Given the description of an element on the screen output the (x, y) to click on. 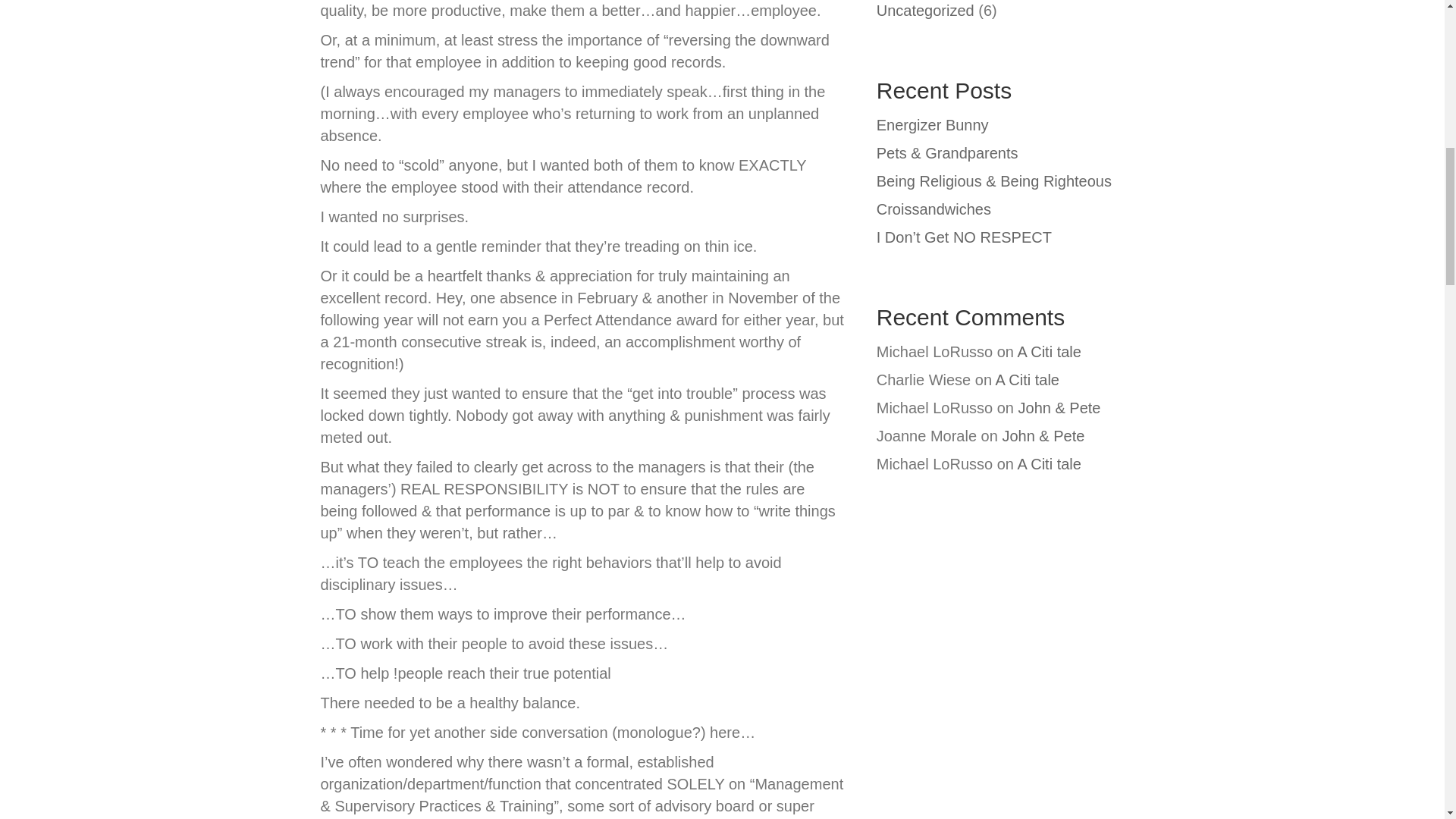
Energizer Bunny (932, 125)
Uncategorized (925, 10)
A Citi tale (1026, 379)
Croissandwiches (933, 208)
A Citi tale (1048, 463)
A Citi tale (1048, 351)
